Given the description of an element on the screen output the (x, y) to click on. 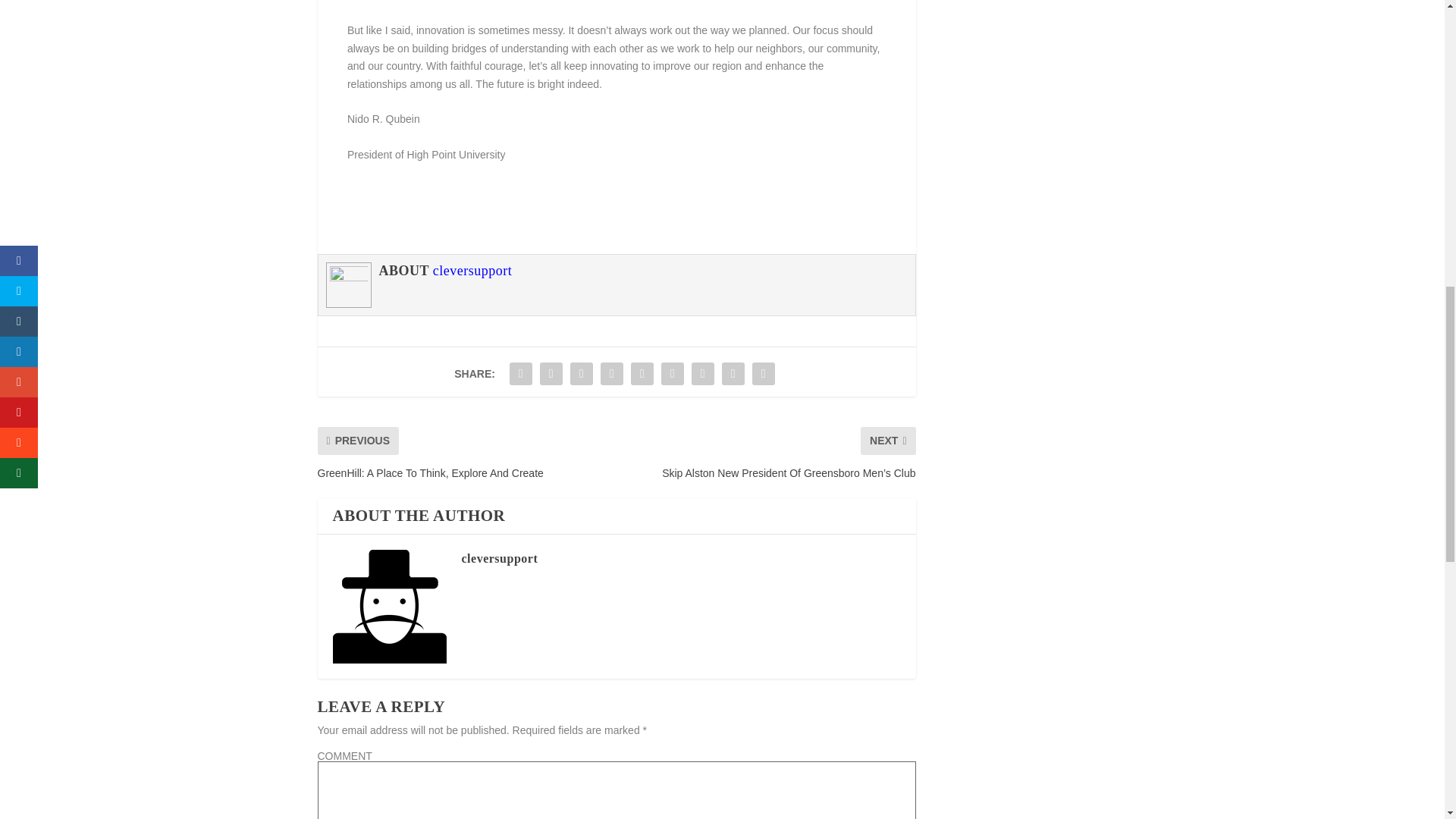
Share "Letters To The Editor: Jan. 29, 2019" via Buffer (702, 373)
Share "Letters To The Editor: Jan. 29, 2019" via Print (763, 373)
Share "Letters To The Editor: Jan. 29, 2019" via Email (732, 373)
Share "Letters To The Editor: Jan. 29, 2019" via Facebook (520, 373)
Share "Letters To The Editor: Jan. 29, 2019" via Pinterest (642, 373)
Share "Letters To The Editor: Jan. 29, 2019" via Tumblr (611, 373)
Share "Letters To The Editor: Jan. 29, 2019" via LinkedIn (672, 373)
View all posts by cleversupport (499, 558)
cleversupport (472, 270)
Share "Letters To The Editor: Jan. 29, 2019" via Twitter (550, 373)
